Given the description of an element on the screen output the (x, y) to click on. 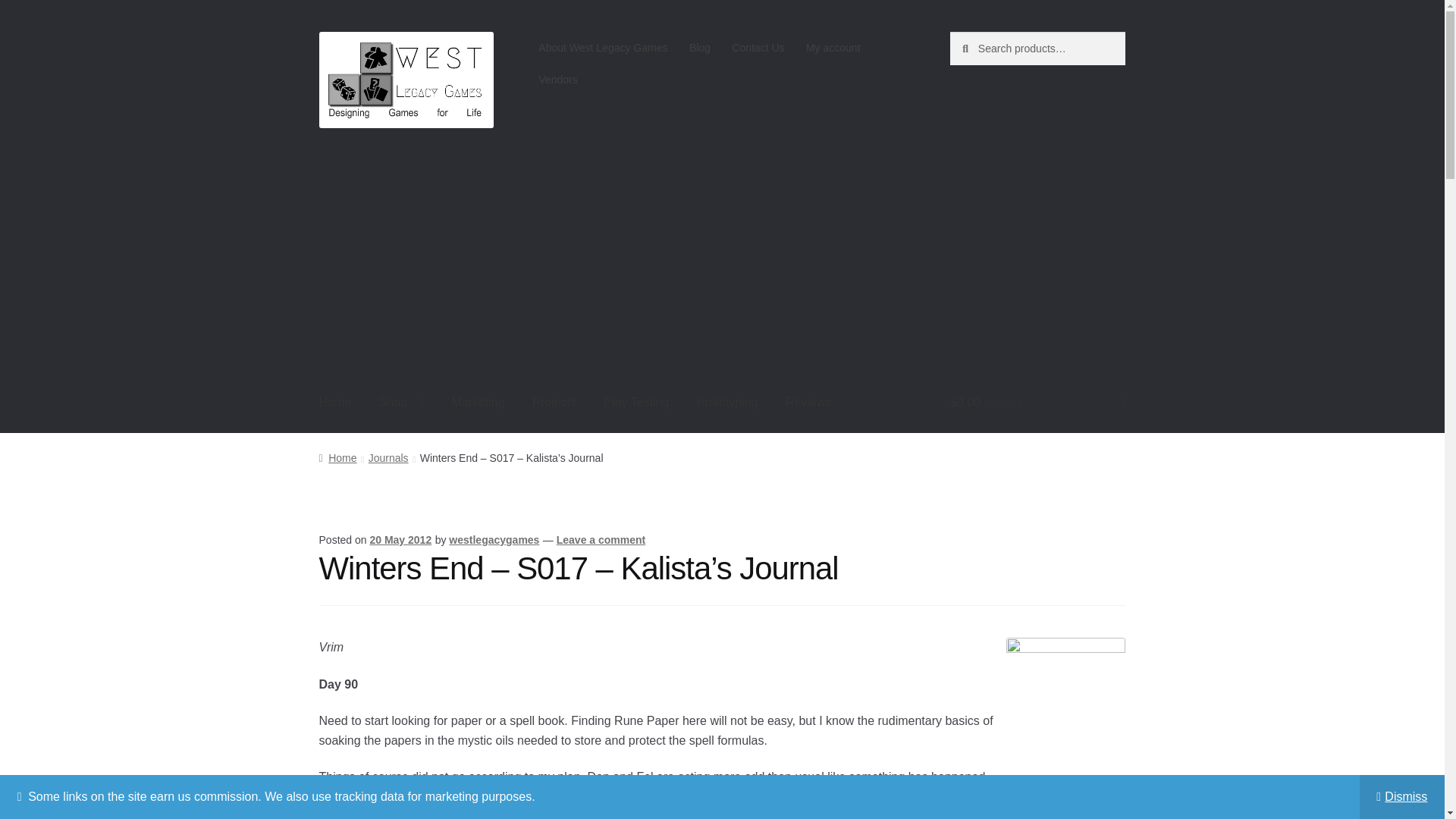
View your shopping cart (1037, 402)
Leave a comment (601, 539)
Marketing (477, 402)
Contact Us (757, 47)
20 May 2012 (399, 539)
Shop (400, 402)
Home (337, 458)
westlegacygames (493, 539)
Home (335, 402)
Reviews (808, 402)
